Given the description of an element on the screen output the (x, y) to click on. 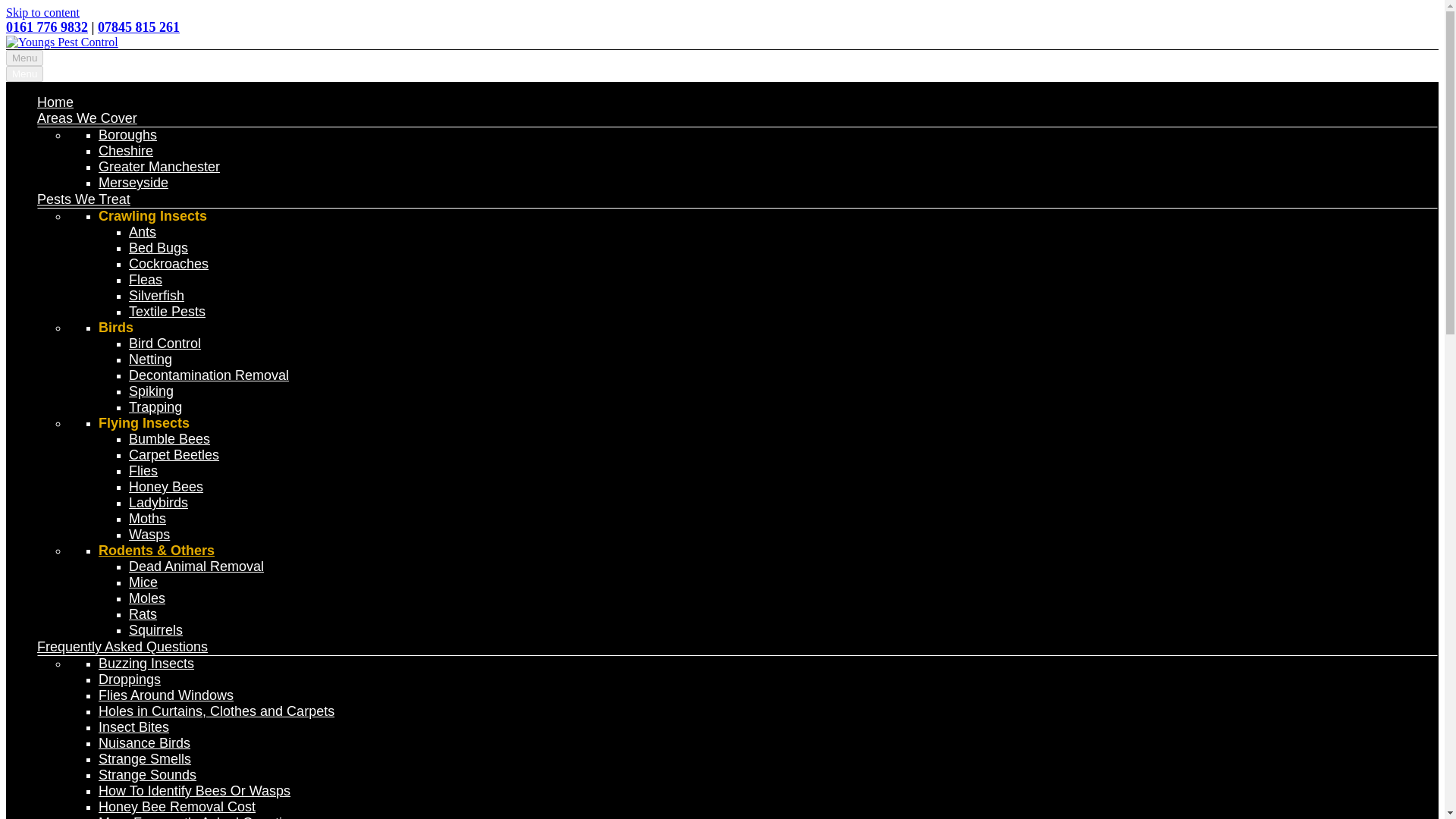
Moths (147, 518)
Dead Animal Removal (196, 566)
Decontamination Removal (208, 375)
Pests We Treat (84, 199)
Menu (24, 73)
07845 815 261 (138, 27)
Ants (142, 231)
Frequently Asked Questions (122, 646)
Trapping (155, 406)
Carpet Beetles (174, 454)
